Given the description of an element on the screen output the (x, y) to click on. 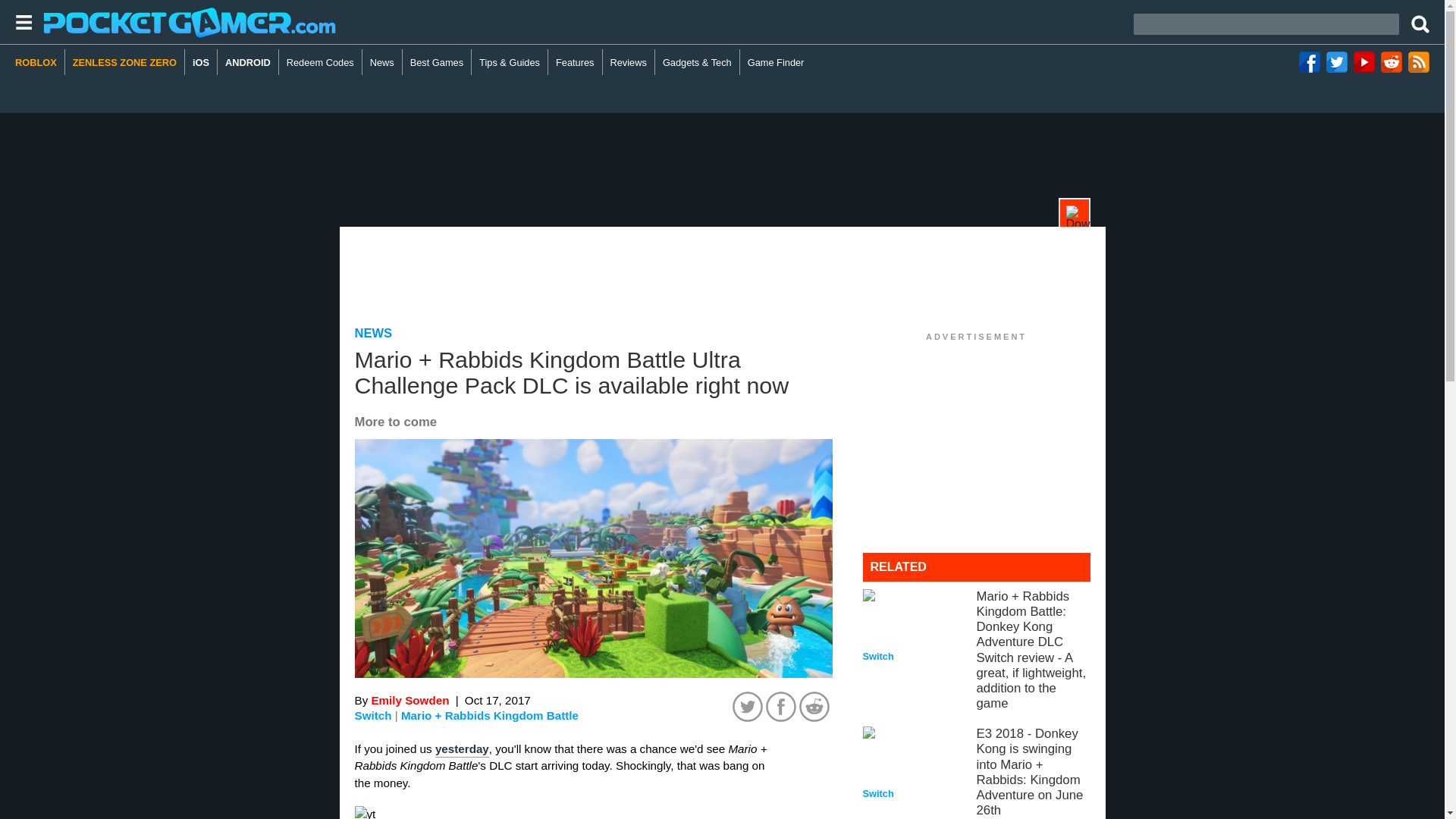
Emily Sowden (409, 699)
ZENLESS ZONE ZERO (124, 62)
Features (575, 62)
Redeem Codes (320, 62)
iOS (200, 62)
Reviews (628, 62)
News (382, 62)
Game Finder (775, 62)
ANDROID (247, 62)
yesterday (462, 749)
